Given the description of an element on the screen output the (x, y) to click on. 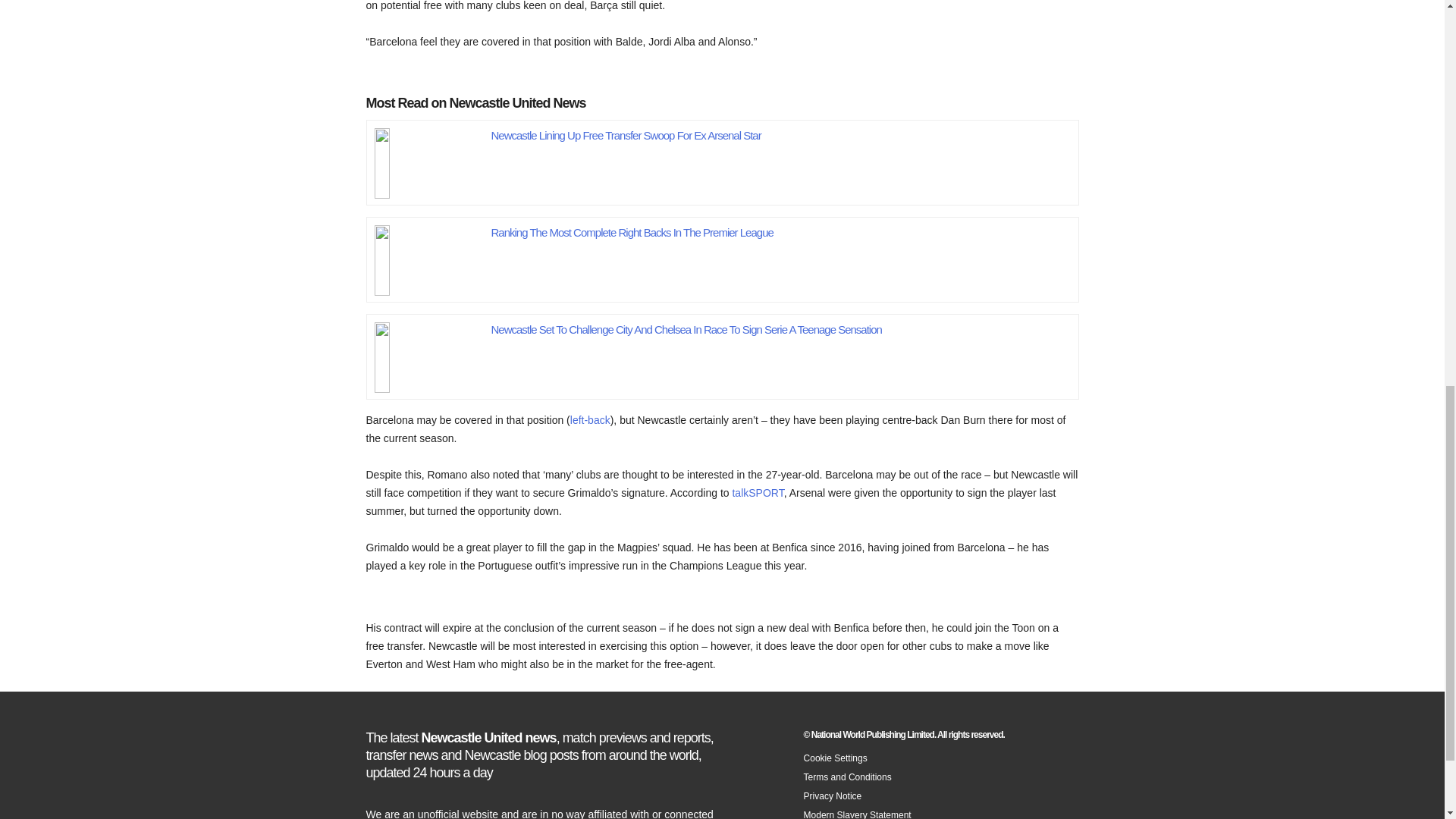
Ranking The Most Complete Right Backs In The Premier League (429, 255)
Modern Slavery Statement (857, 814)
Cookie Settings (835, 757)
Privacy Notice (832, 795)
talkSPORT (757, 492)
Newcastle Lining Up Free Transfer Swoop For Ex Arsenal Star (626, 134)
left-back (590, 419)
Newcastle Lining Up Free Transfer Swoop For Ex Arsenal Star (429, 158)
